Given the description of an element on the screen output the (x, y) to click on. 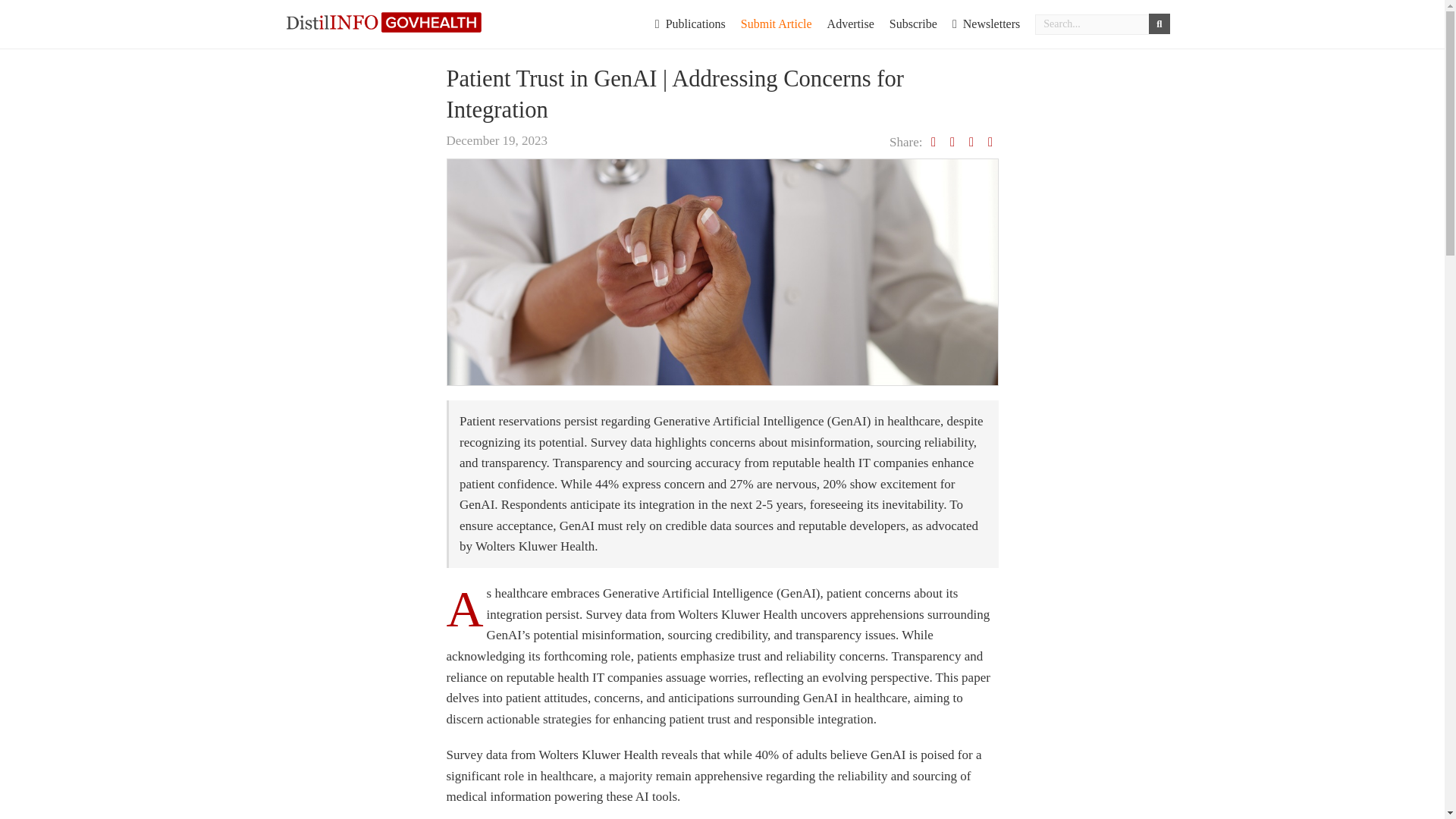
Subscribe (913, 24)
Submit Article (776, 24)
Newsletters (985, 24)
Publications (690, 24)
Newsletters Archive (985, 24)
Advertise (850, 24)
DistilINFO GovHealth Advisory (384, 21)
